Given the description of an element on the screen output the (x, y) to click on. 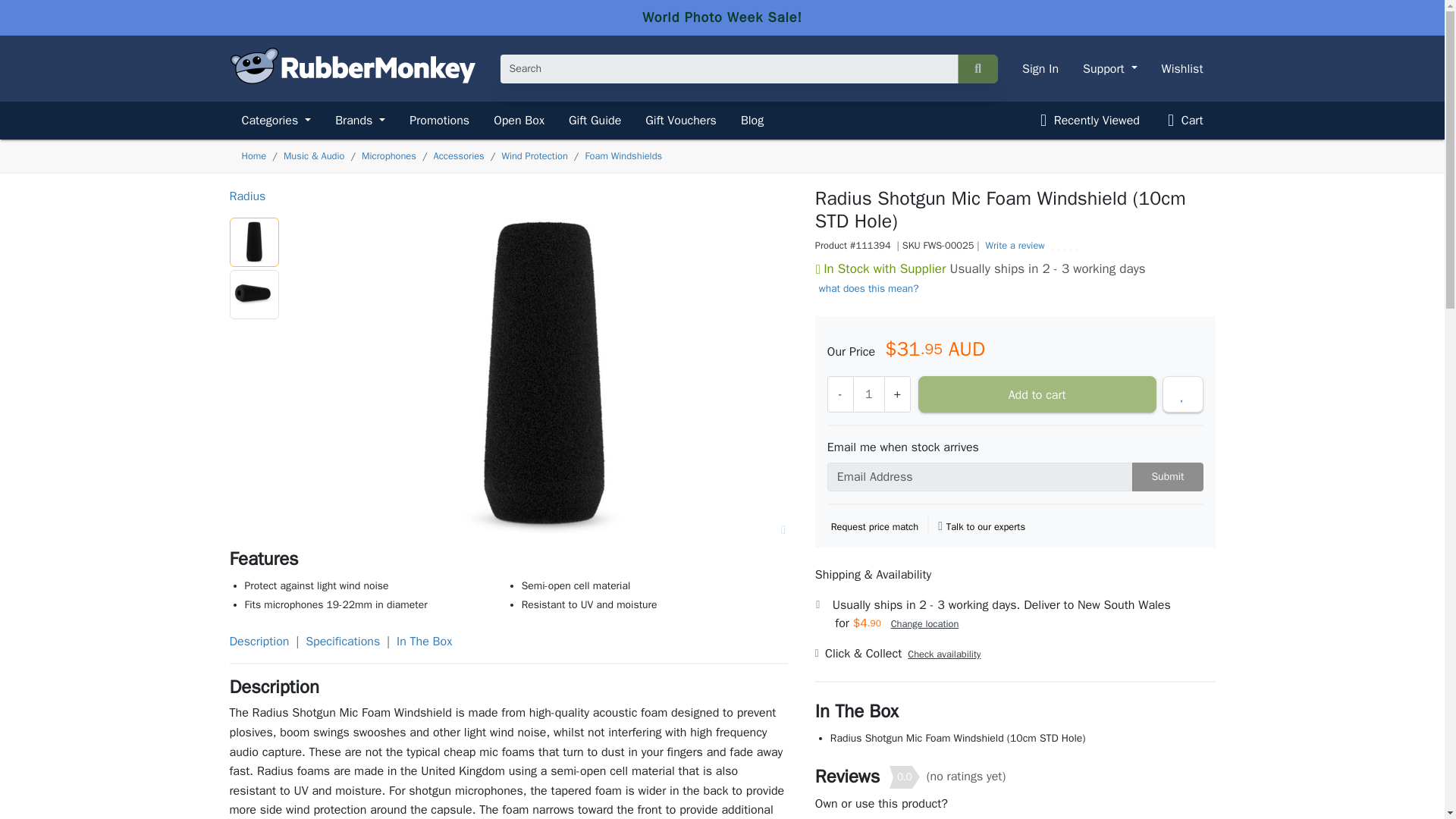
Wishlist (1182, 68)
Promotions (439, 120)
Recently Viewed (1088, 120)
World Photo Week Sale! (722, 17)
Brands (360, 120)
Rubber Monkey (352, 80)
0.0 (904, 776)
Gift Guide (594, 120)
Cart (1183, 120)
Support (1110, 68)
